Given the description of an element on the screen output the (x, y) to click on. 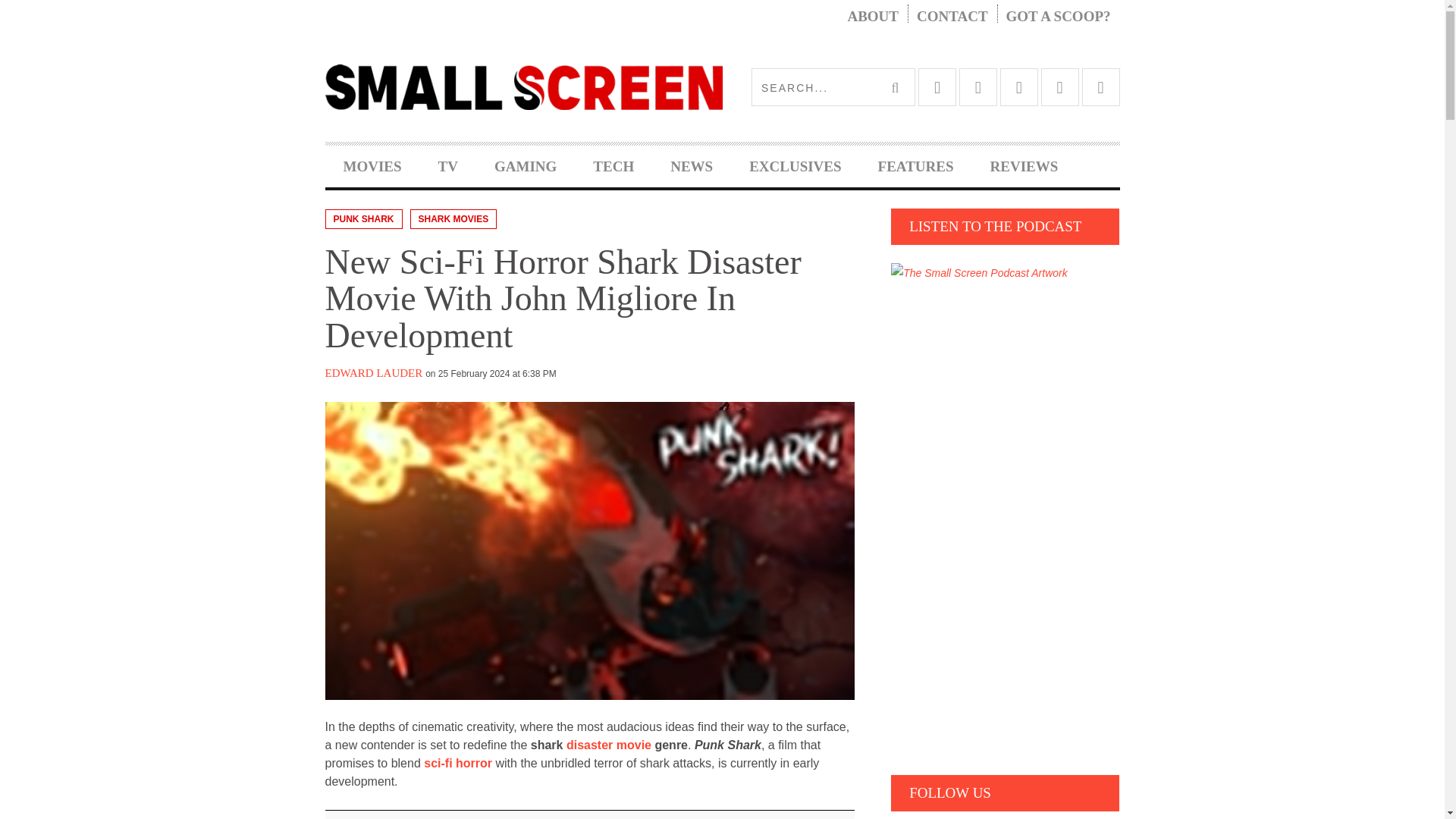
Posts by Edward Lauder (373, 372)
Listen To The Podcast (979, 272)
ABOUT (872, 16)
Small Screen (523, 86)
GOT A SCOOP? (1058, 16)
CONTACT (952, 16)
